Given the description of an element on the screen output the (x, y) to click on. 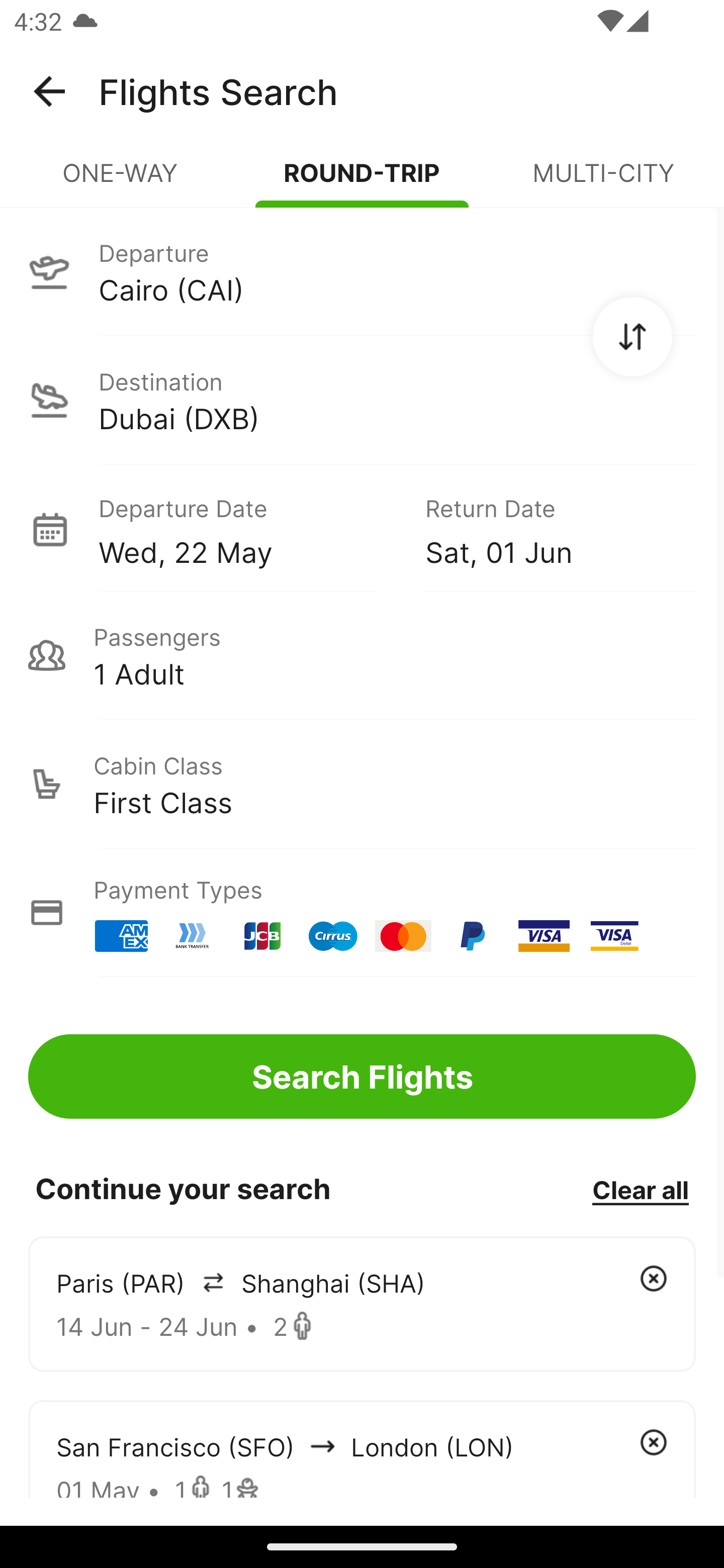
ONE-WAY (120, 180)
ROUND-TRIP (361, 180)
MULTI-CITY (603, 180)
Departure Cairo (CAI) (362, 270)
Destination Dubai (DXB) (362, 400)
Departure Date Wed, 22 May (247, 528)
Return Date Sat, 01 Jun (546, 528)
Passengers 1 Adult (362, 655)
Cabin Class First Class (362, 783)
Payment Types (362, 912)
Search Flights (361, 1075)
Clear all (640, 1189)
